Given the description of an element on the screen output the (x, y) to click on. 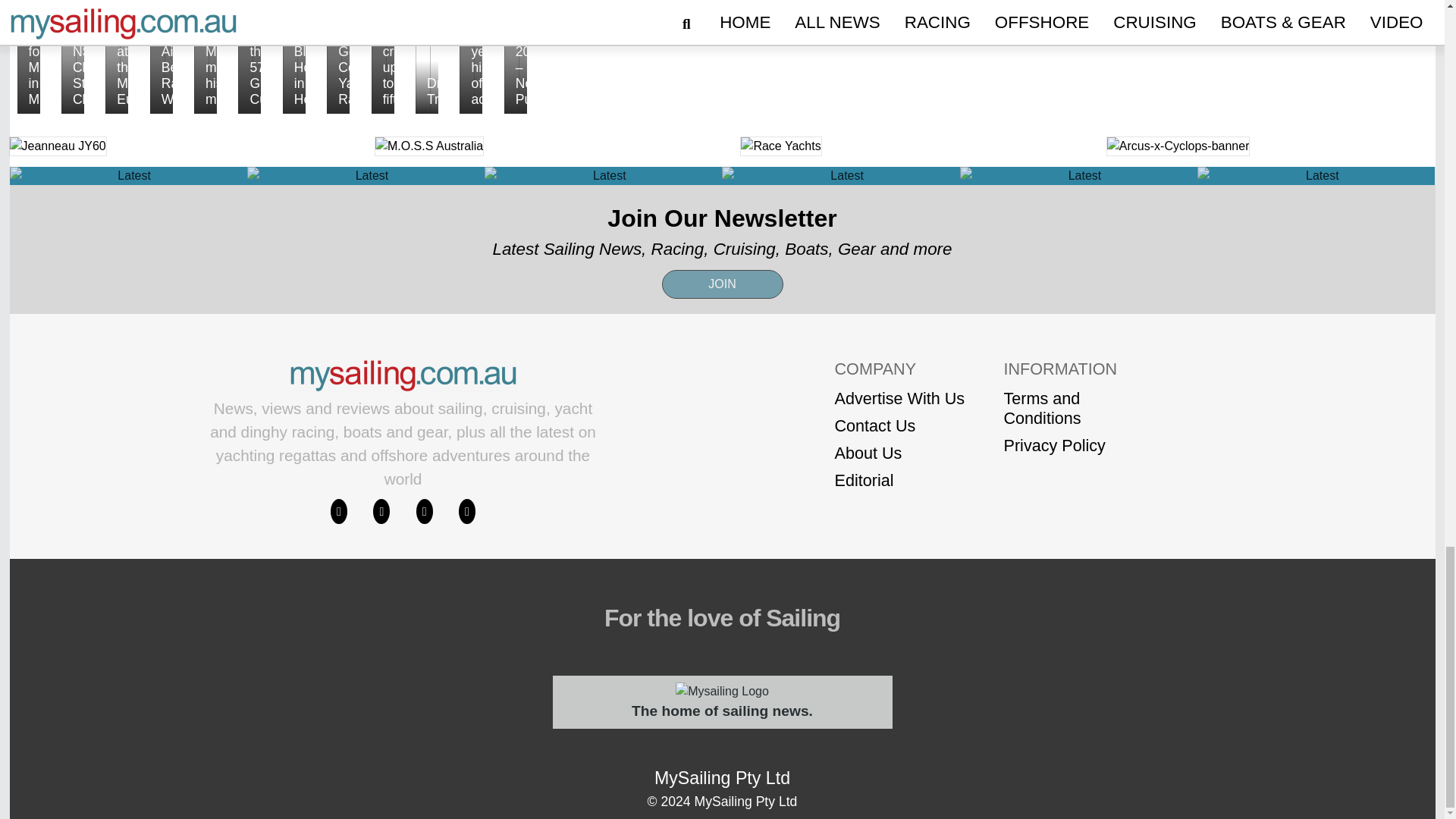
About Us (899, 453)
Contact Us (899, 425)
Advertise With Us (899, 398)
Editorial (899, 480)
